Given the description of an element on the screen output the (x, y) to click on. 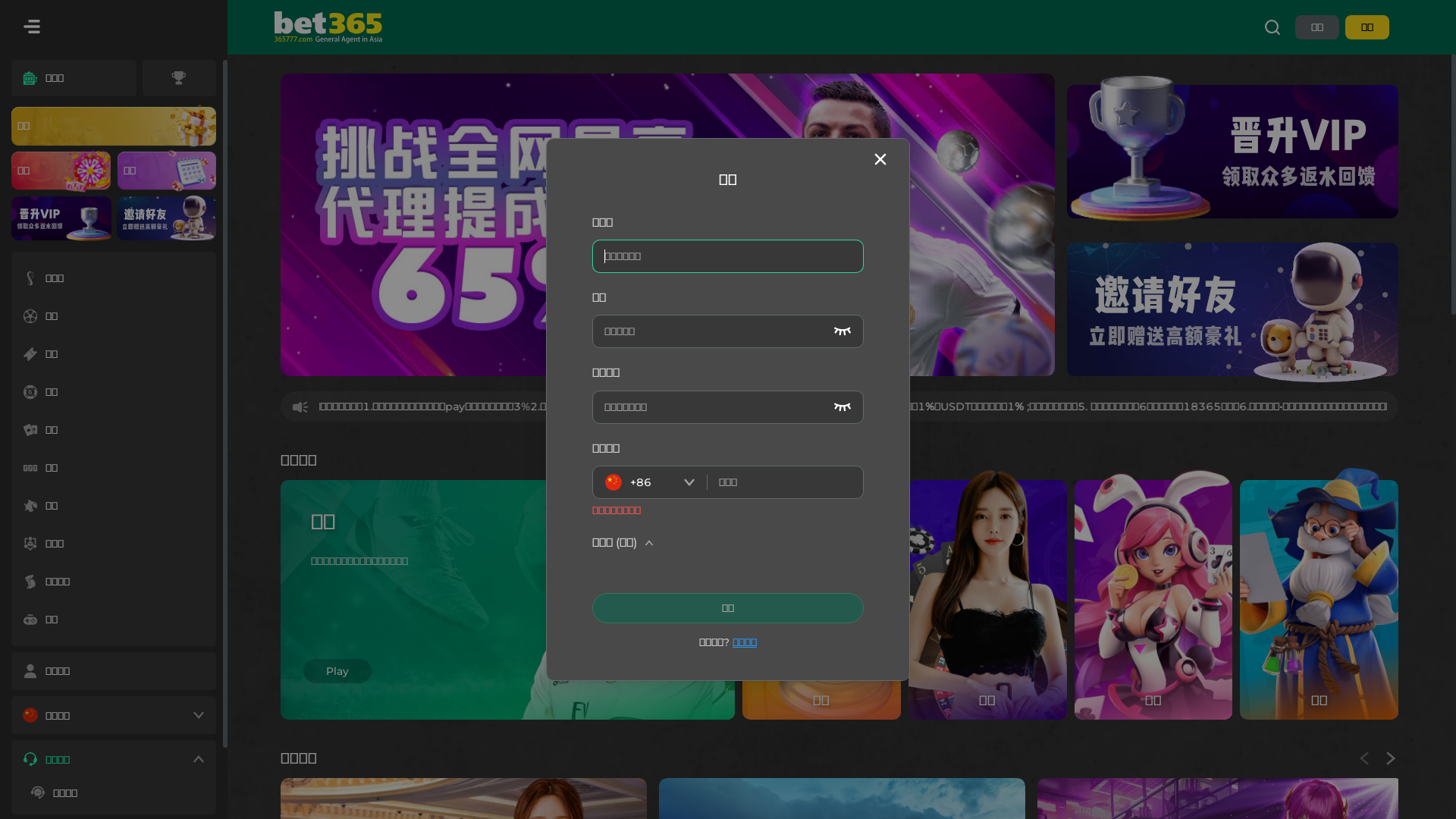
Play Element type: text (337, 670)
